Given the description of an element on the screen output the (x, y) to click on. 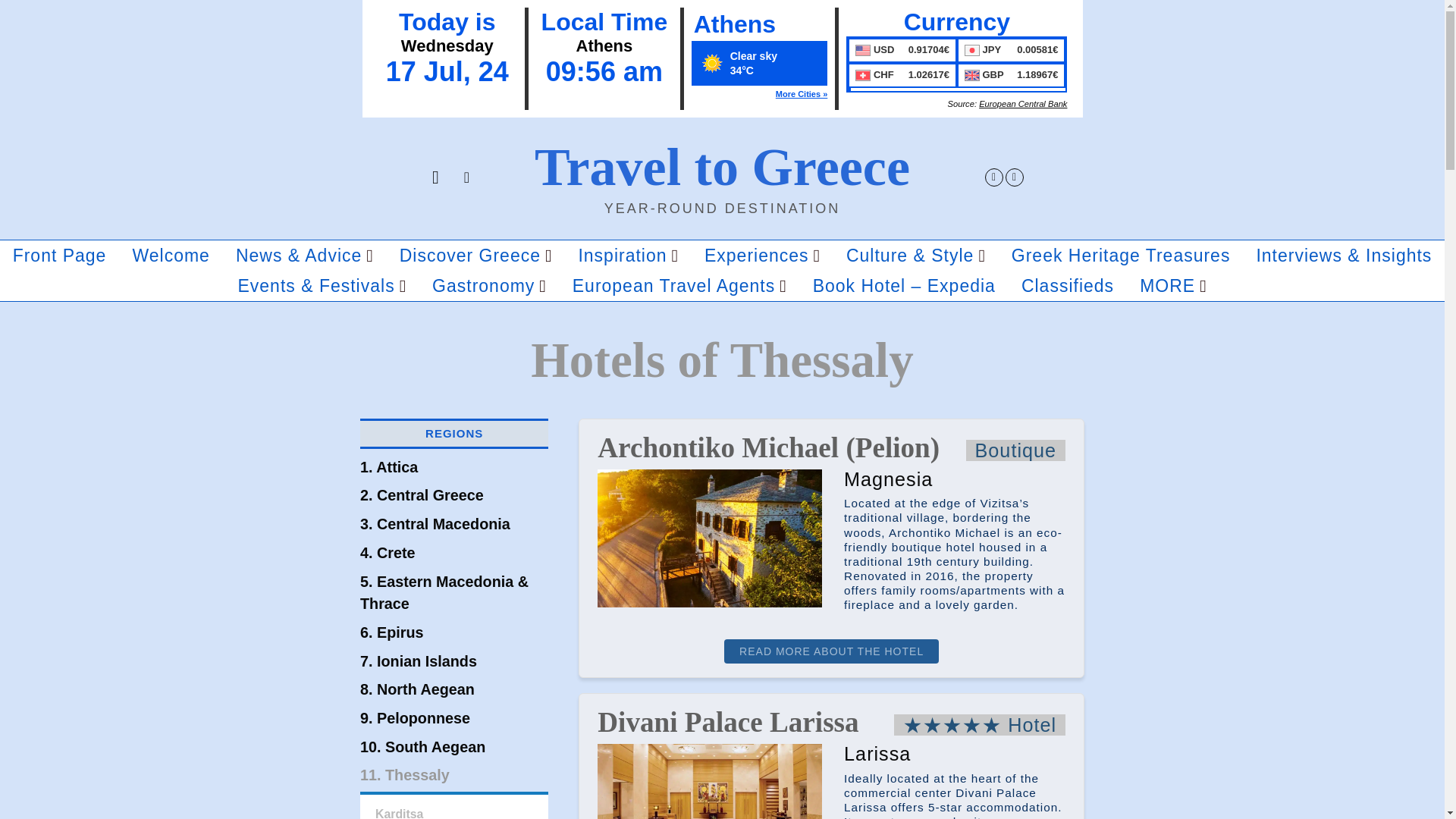
Travel to Greece (721, 167)
European Central Bank (1022, 103)
Front Page (59, 255)
Pinterest (1014, 177)
Welcome (169, 255)
Discover Greece (475, 255)
Twitter (994, 177)
